Given the description of an element on the screen output the (x, y) to click on. 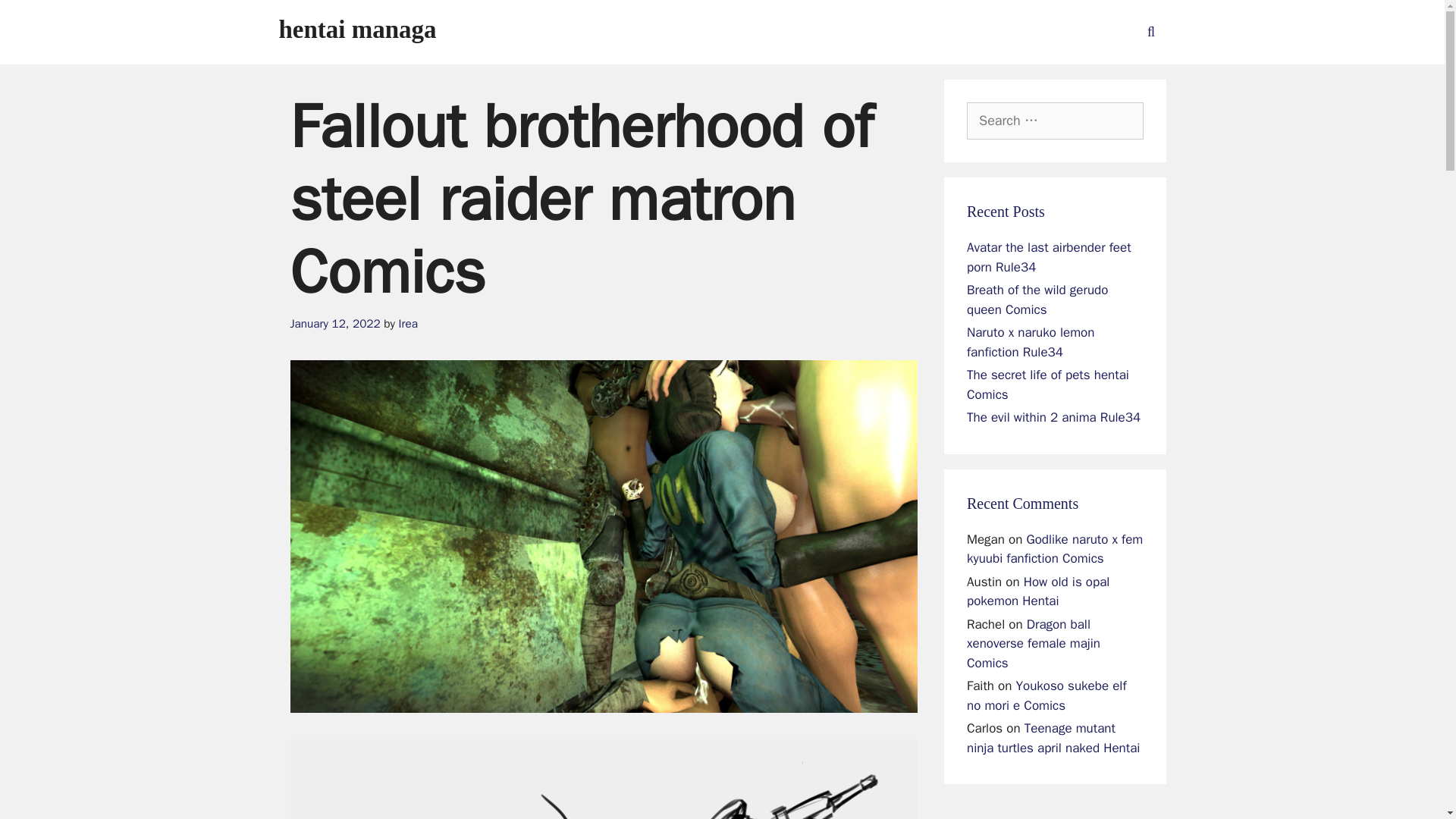
January 12, 2022 (334, 323)
11:09 am (334, 323)
Search (35, 18)
Avatar the last airbender feet porn Rule34 (1048, 257)
The evil within 2 anima Rule34 (1053, 417)
Youkoso sukebe elf no mori e Comics (1046, 695)
Teenage mutant ninja turtles april naked Hentai (1053, 737)
Dragon ball xenoverse female majin Comics (1033, 642)
hentai managa (357, 29)
The secret life of pets hentai Comics (1047, 384)
